Given the description of an element on the screen output the (x, y) to click on. 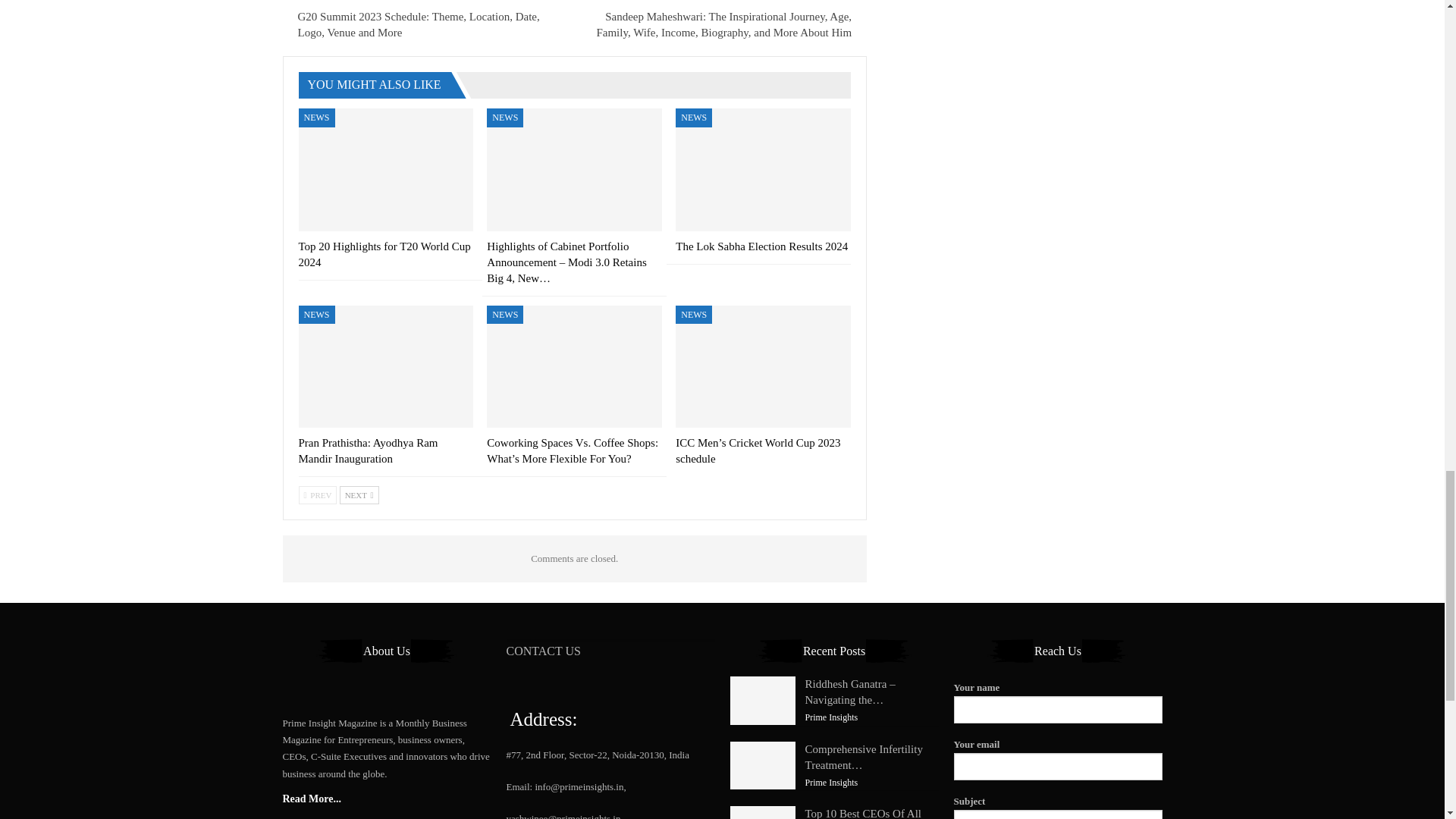
The Lok Sabha Election Results 2024 (762, 169)
Pran Prathistha: Ayodhya Ram Mandir Inauguration (368, 450)
The Lok Sabha Election Results 2024 (761, 246)
Top 20 Highlights for T20 World Cup 2024 (384, 254)
Pran Prathistha: Ayodhya Ram Mandir Inauguration (386, 366)
Top 20 Highlights for T20 World Cup 2024 (386, 169)
